Given the description of an element on the screen output the (x, y) to click on. 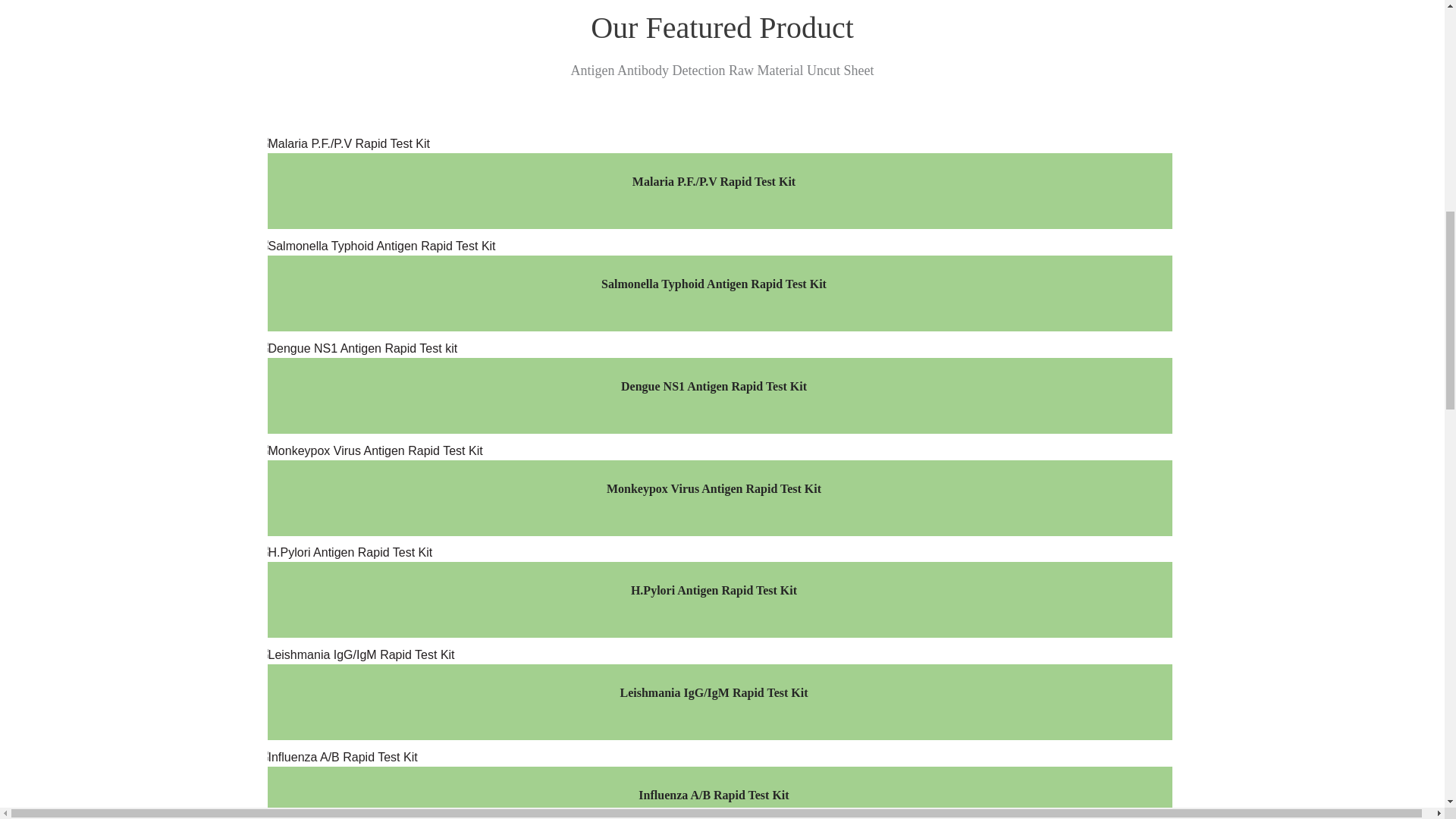
Dengue NS1 Antigen Rapid Test Kit (713, 386)
Salmonella Typhoid Antigen Rapid Test Kit (714, 245)
H.Pylori Antigen Rapid Test Kit (714, 552)
H.Pylori Antigen Rapid Test Kit (713, 590)
Monkeypox Virus Antigen Rapid Test Kit (713, 488)
Salmonella Typhoid Antigen Rapid Test Kit (713, 284)
H.Pylori Antigen Rapid Test Kit (713, 590)
Dengue NS1 Antigen Rapid Test kit (713, 386)
Dengue NS1 Antigen Rapid Test kit (714, 348)
Monkeypox Virus Antigen Rapid Test Kit (714, 450)
Monkeypox Virus Antigen Rapid Test Kit (713, 488)
Salmonella Typhoid Antigen Rapid Test Kit (713, 284)
